Given the description of an element on the screen output the (x, y) to click on. 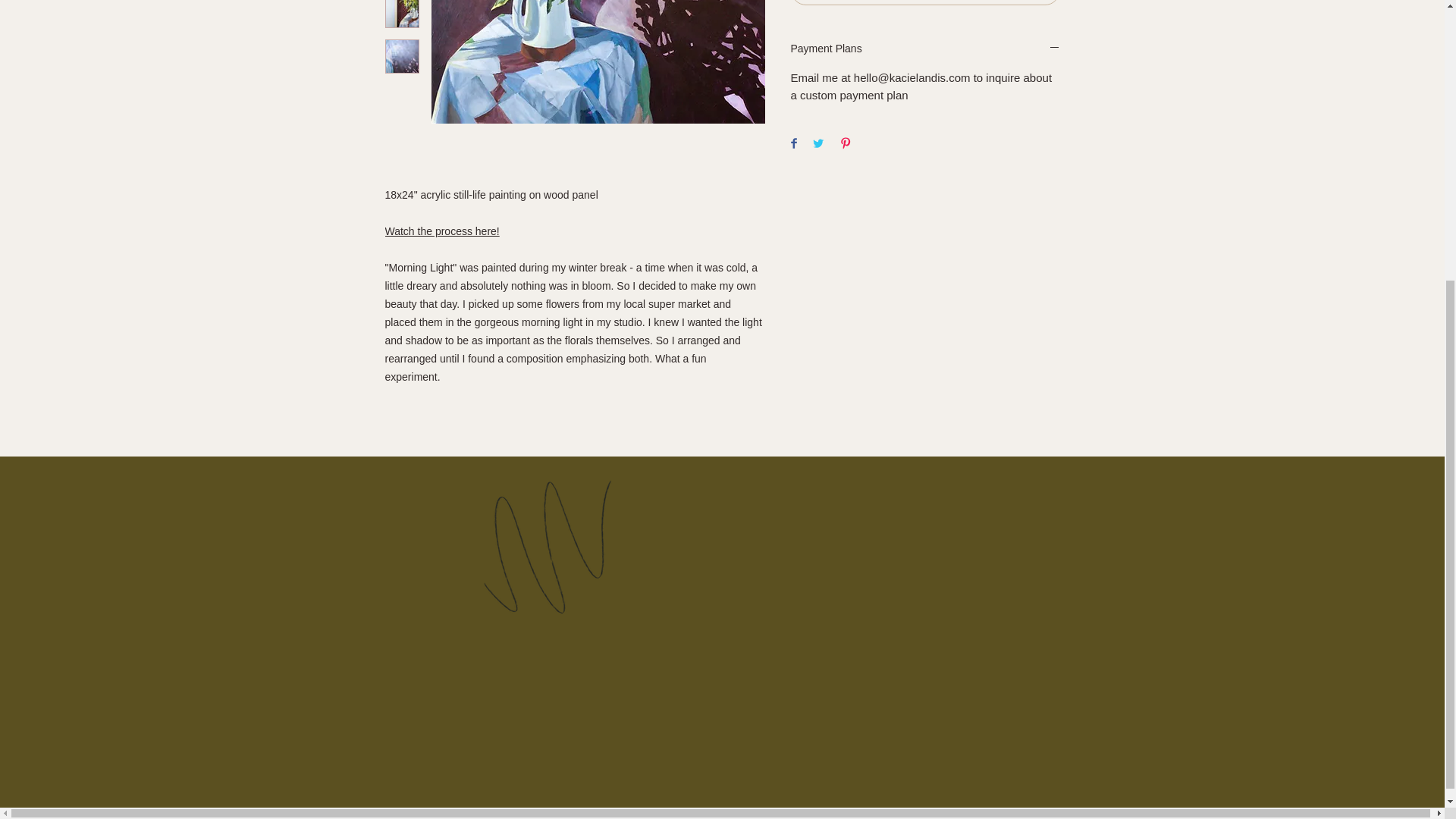
Payment Plans (924, 49)
Buy Now (924, 2)
Watch the process here! (442, 231)
